Given the description of an element on the screen output the (x, y) to click on. 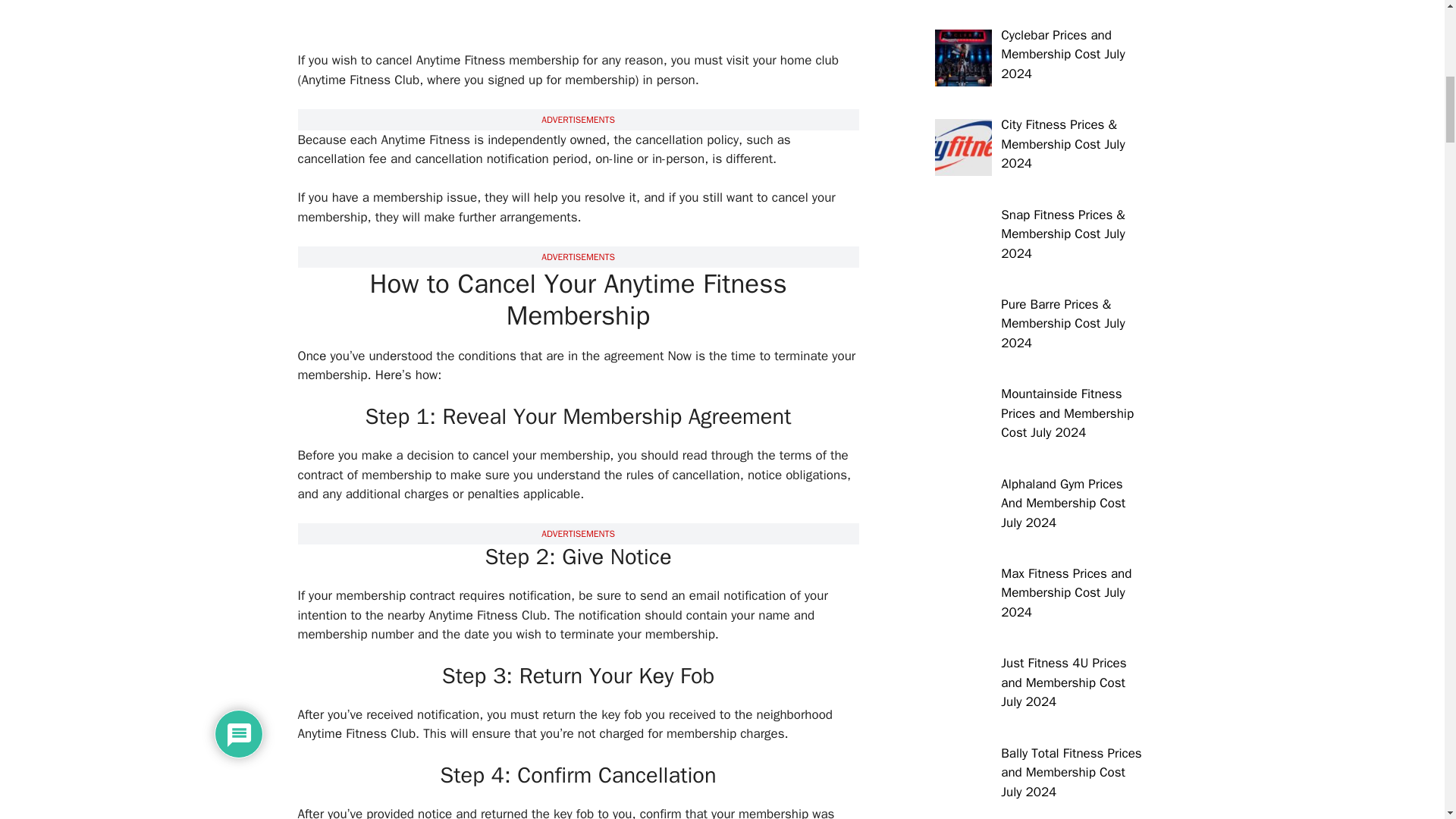
ADVERTISEMENTS (577, 119)
ADVERTISEMENTS (577, 256)
ADVERTISEMENTS (577, 533)
